Given the description of an element on the screen output the (x, y) to click on. 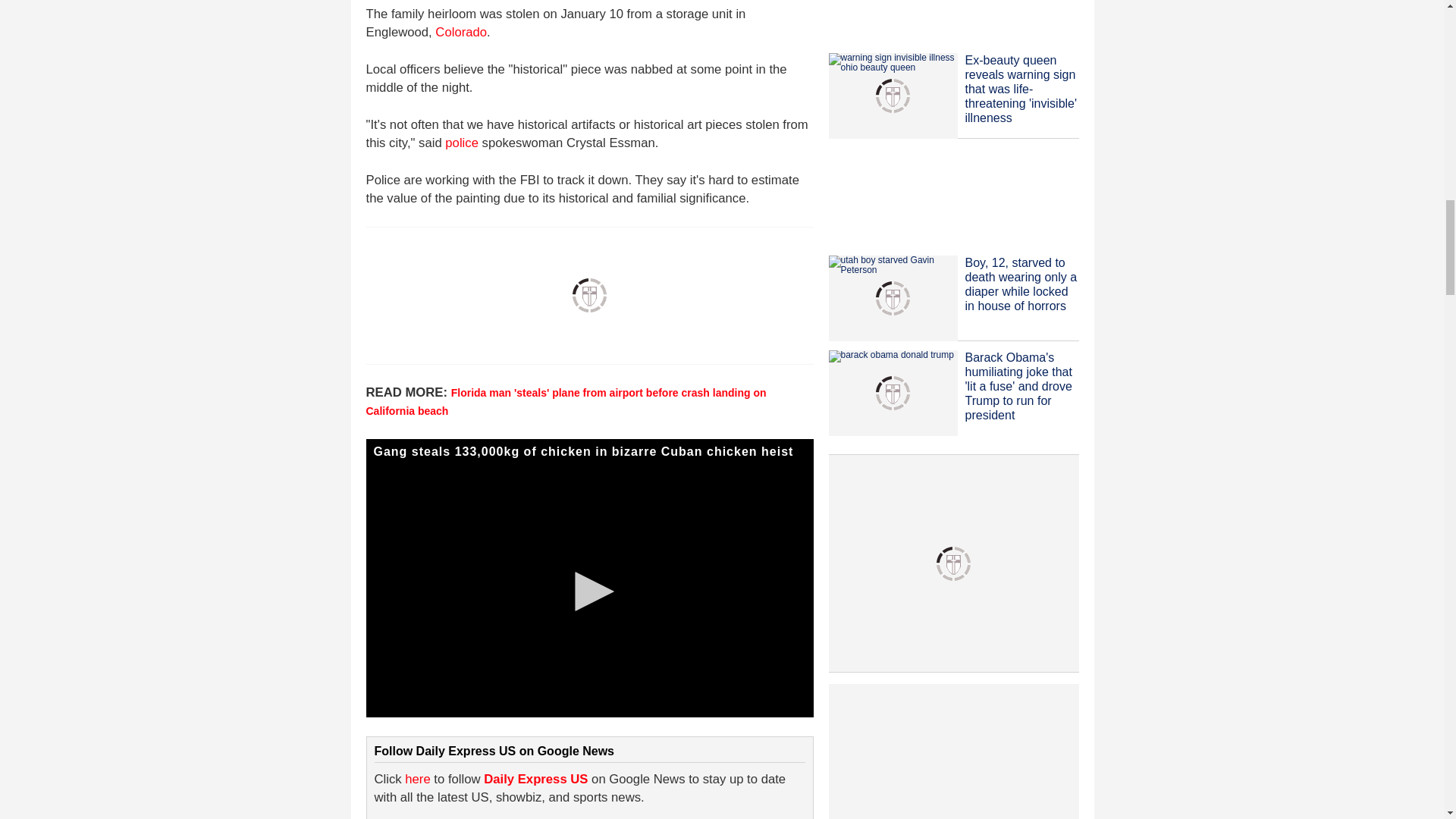
here (416, 779)
Daily Express US (535, 779)
Colorado (460, 32)
police (462, 142)
